Given the description of an element on the screen output the (x, y) to click on. 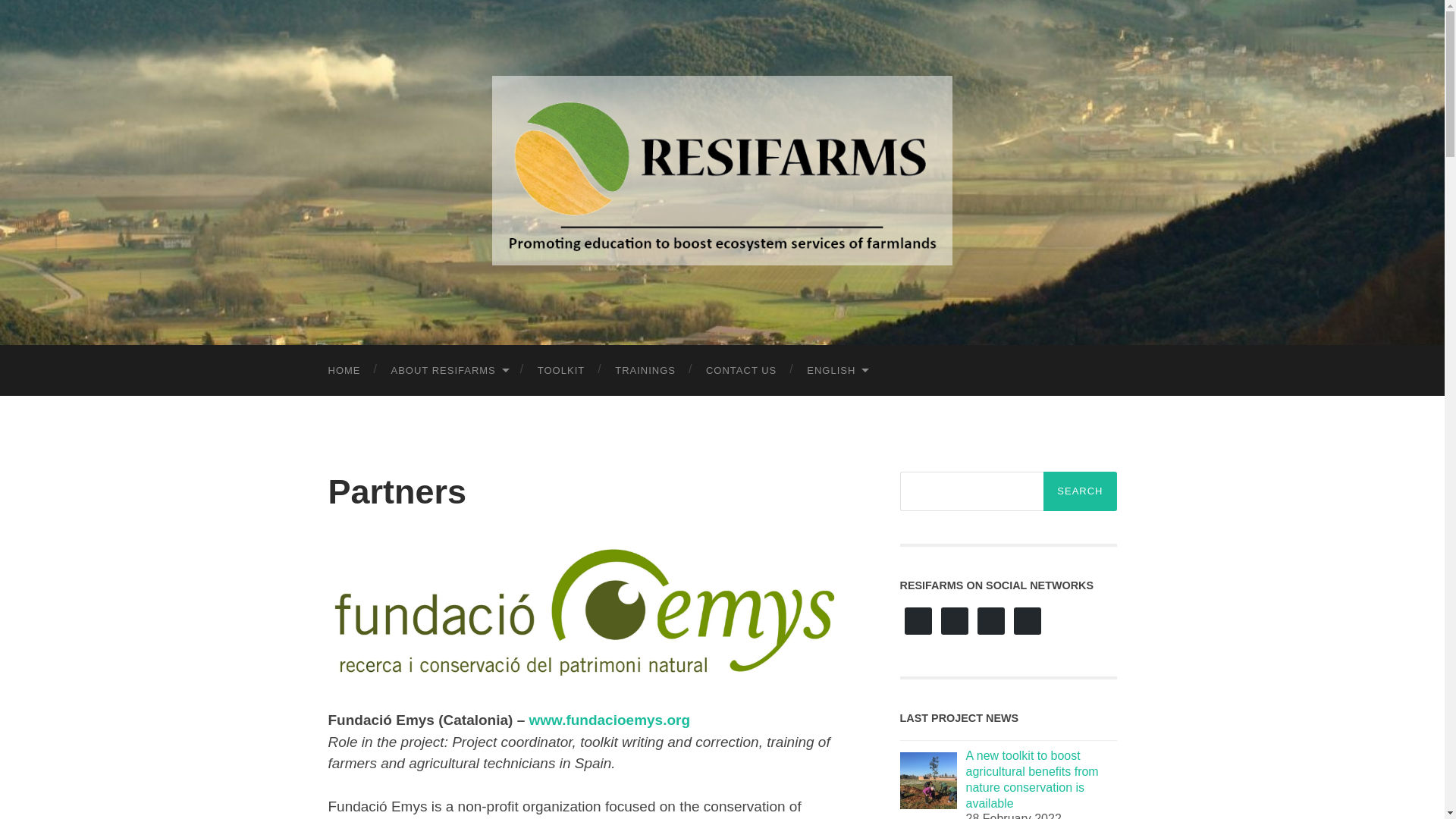
ABOUT RESIFARMS (448, 369)
ENGLISH (837, 369)
CONTACT US (741, 369)
TRAININGS (644, 369)
HOME (344, 369)
Resifarms (722, 170)
TOOLKIT (560, 369)
Search (1079, 491)
www.fundacioemys.org (609, 719)
